Given the description of an element on the screen output the (x, y) to click on. 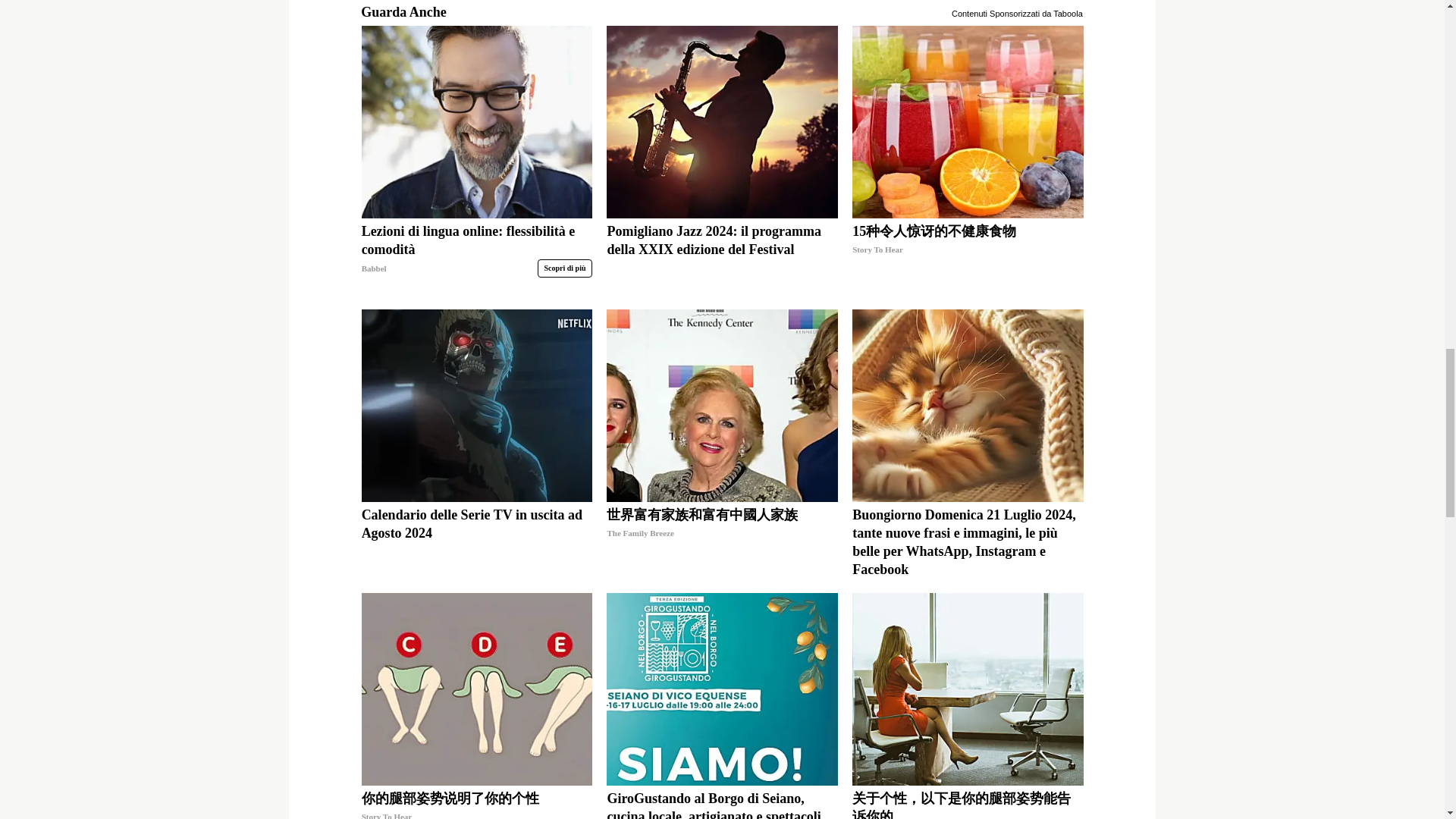
da Taboola (1062, 11)
Calendario delle Serie TV in uscita ad Agosto 2024 (476, 542)
